Given the description of an element on the screen output the (x, y) to click on. 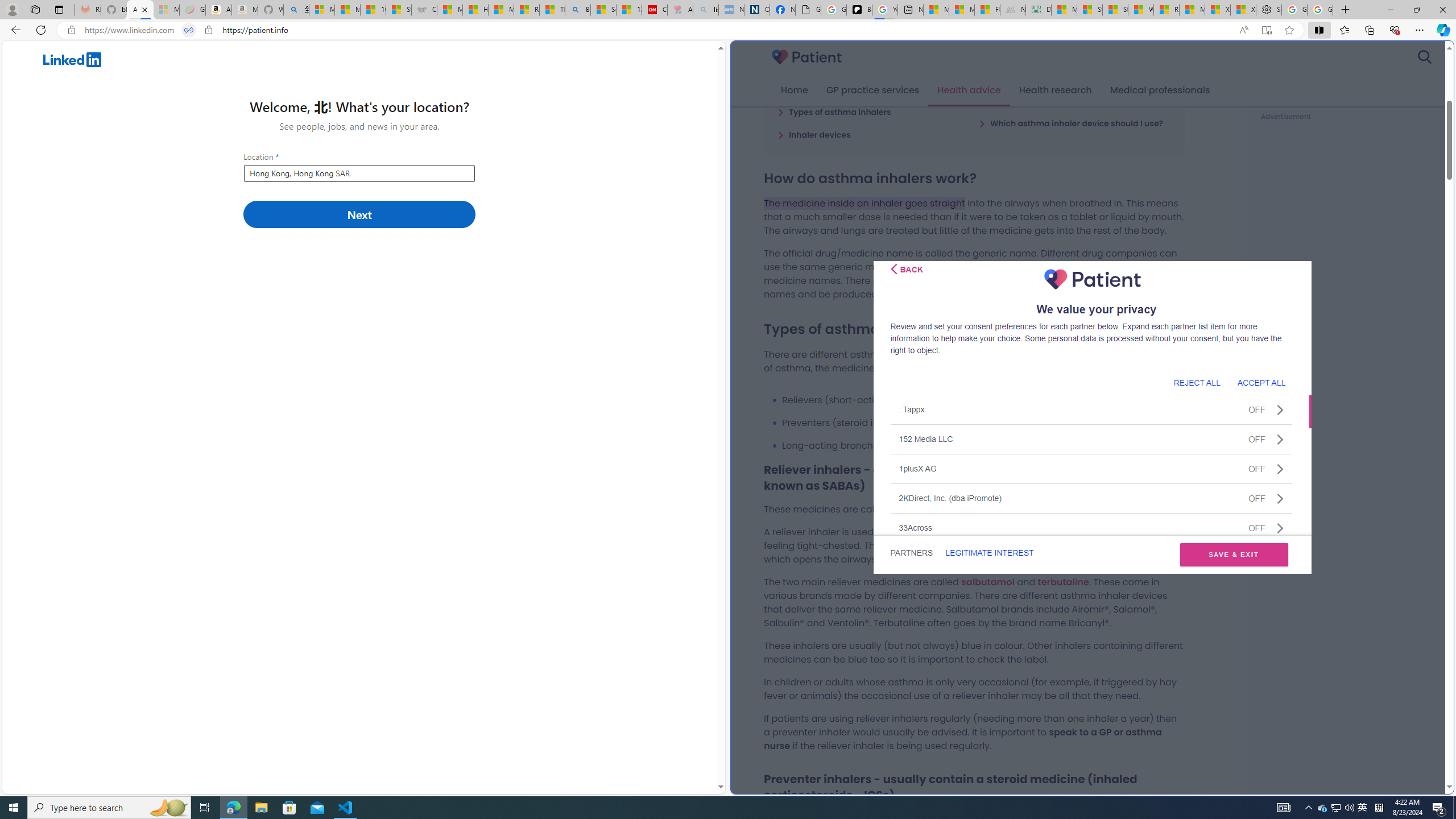
PARTNERS (911, 552)
Google Analytics Opt-out Browser Add-on Download Page (807, 9)
Bing (577, 9)
Health research (1054, 90)
152 Media LLCOFF (1090, 438)
Preventers (steroid inhalers). (983, 422)
Medical professionals (1160, 90)
Types of asthma inhalers (834, 111)
